Given the description of an element on the screen output the (x, y) to click on. 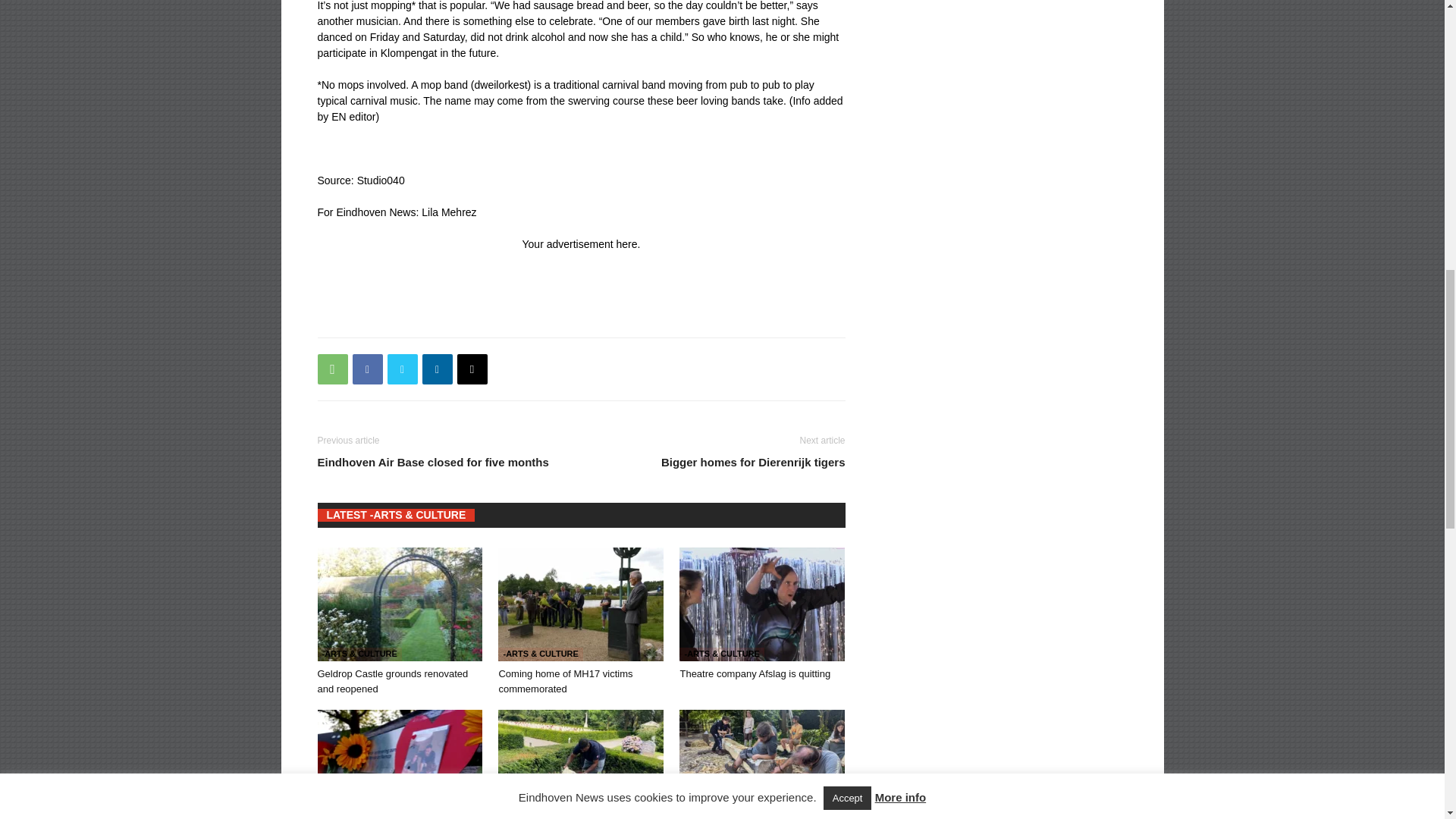
WhatsApp (332, 368)
Twitter (401, 368)
Advertisement (593, 286)
Facebook (366, 368)
